Given the description of an element on the screen output the (x, y) to click on. 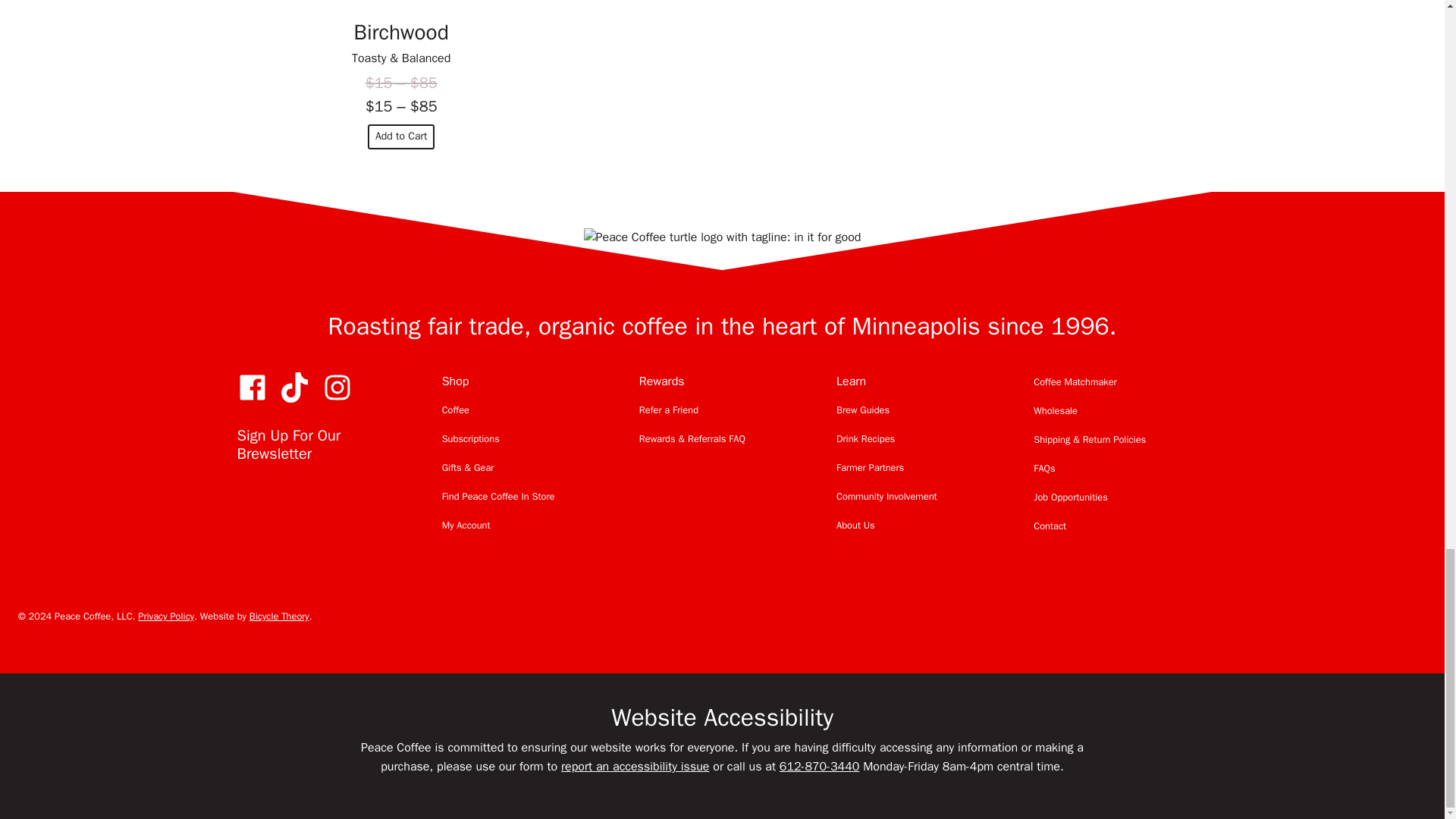
Add to Cart (401, 136)
Facebook (250, 387)
TikTok (293, 387)
